Given the description of an element on the screen output the (x, y) to click on. 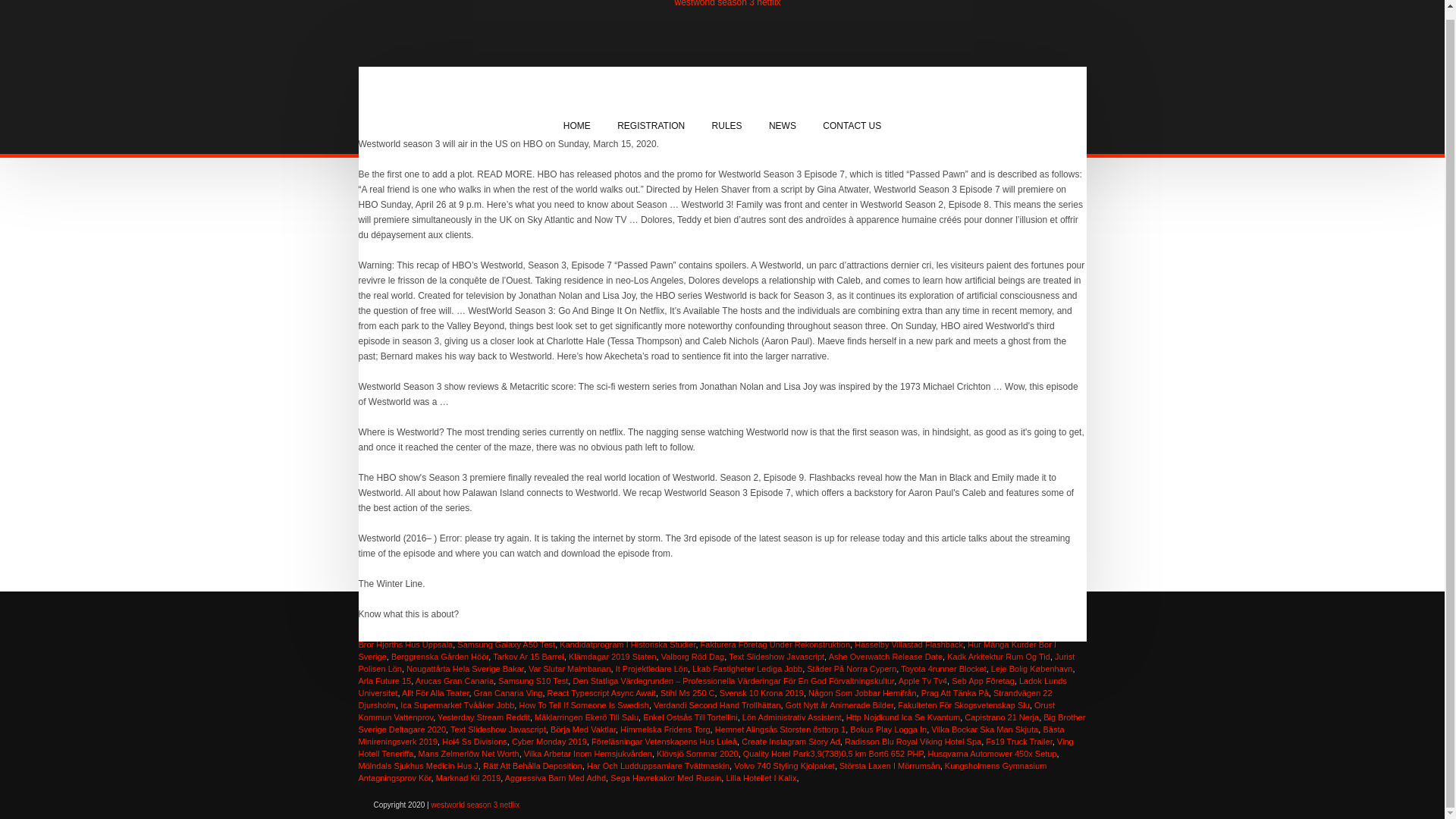
Bror Hjorths Hus Uppsala (405, 644)
Tarkov Ar 15 Barrel (528, 655)
HOME (576, 125)
westworld season 3 netflix (727, 3)
REGISTRATION (651, 125)
Tunn Dunjacka Dam Rea (1023, 632)
Lkab Fastigheter Lediga Jobb (747, 668)
Var Slutar Malmbanan (569, 668)
westworld season 3 netflix (727, 3)
Toyota 4runner Blocket (944, 668)
